Given the description of an element on the screen output the (x, y) to click on. 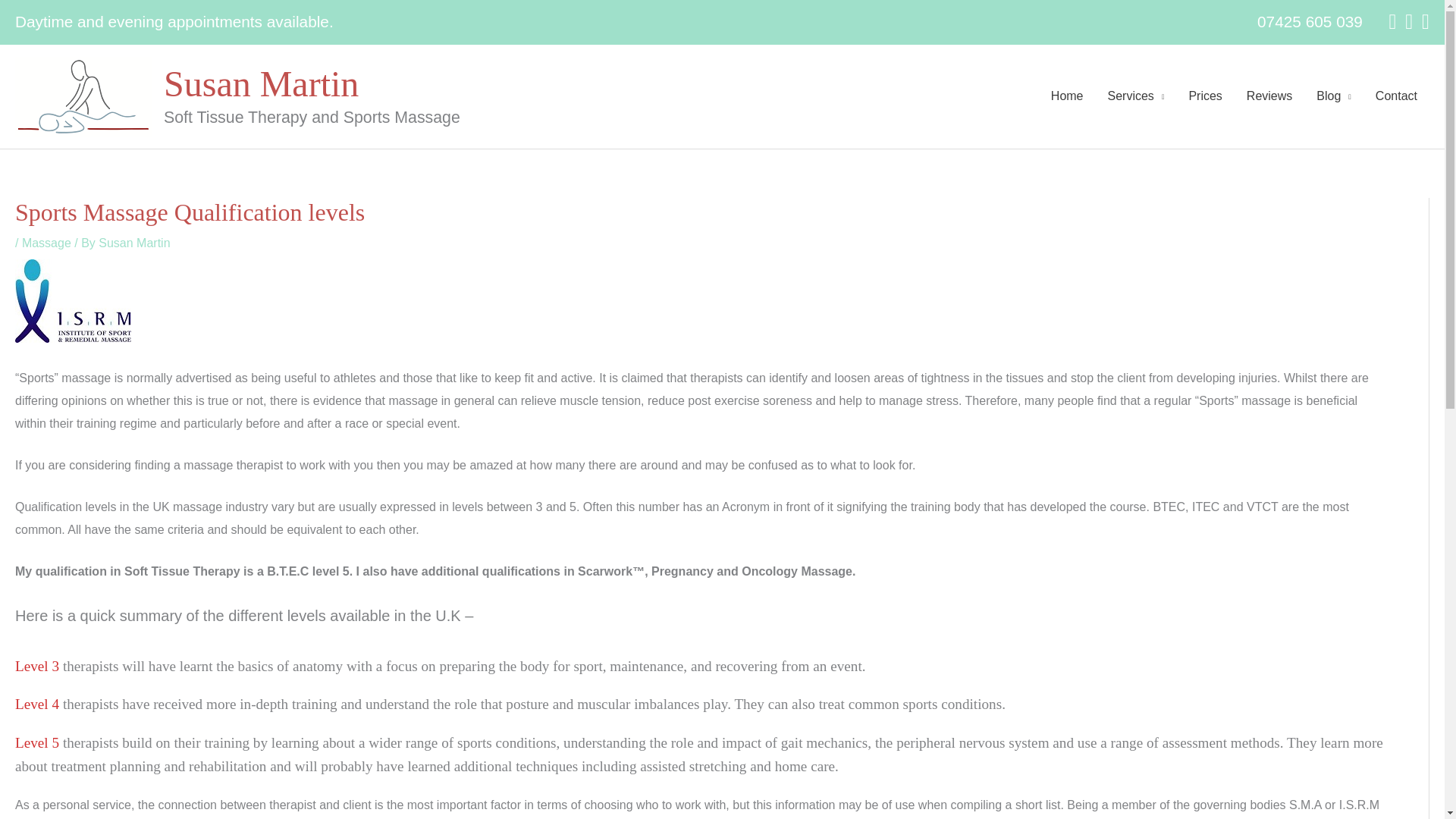
Services (1136, 96)
View all posts by Susan Martin (134, 242)
Susan Martin (260, 83)
Reviews (1269, 96)
Prices (1204, 96)
Home (1067, 96)
Blog (1333, 96)
Contact (1395, 96)
Susan Martin (134, 242)
Massage (46, 242)
